Given the description of an element on the screen output the (x, y) to click on. 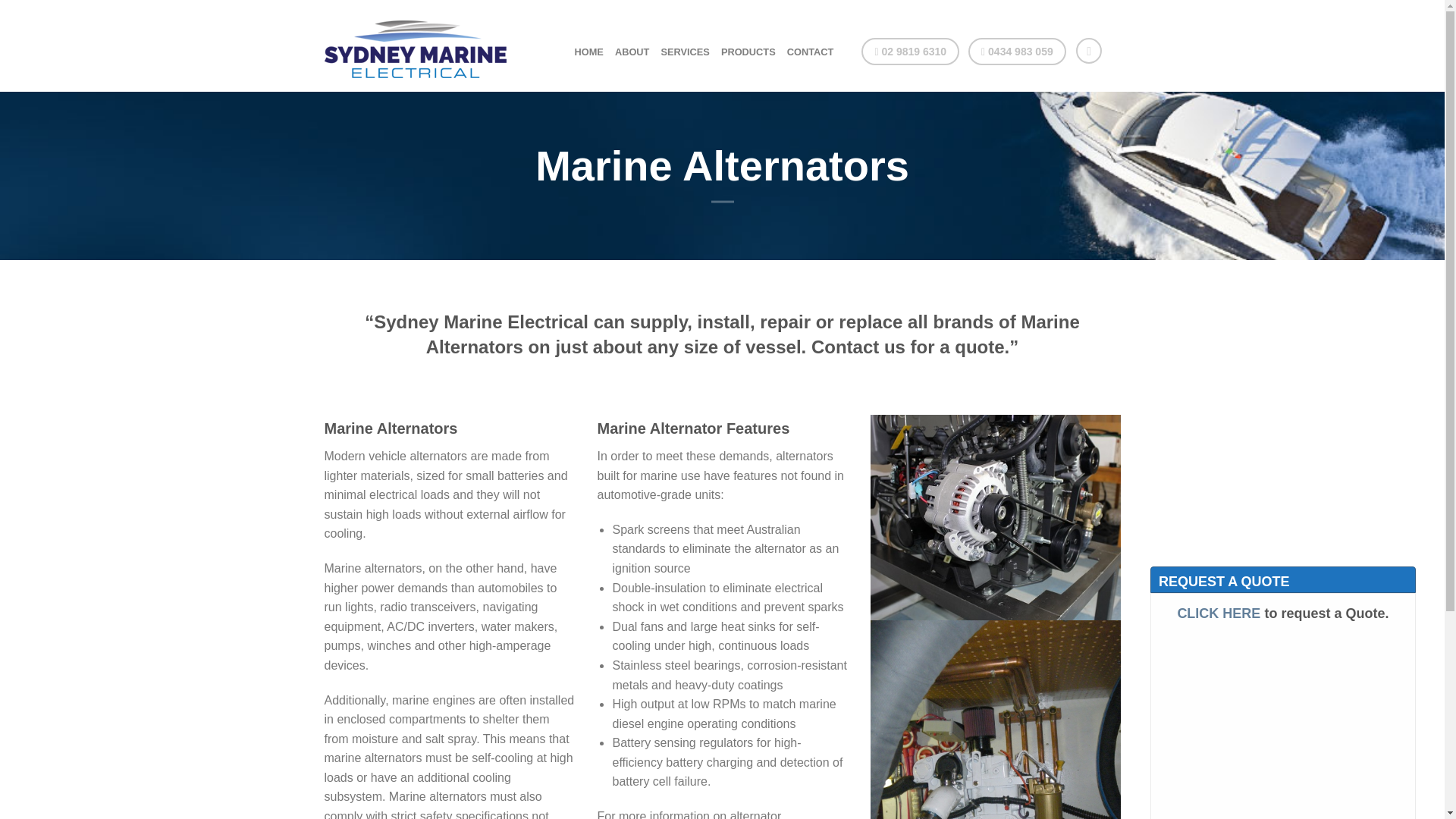
02 9819 6310 (910, 51)
ABOUT (631, 51)
SERVICES (685, 51)
CONTACT (810, 51)
HOME (589, 51)
CLICK HERE (1218, 814)
0434 983 059 (1016, 51)
PRODUCTS (748, 51)
